Given the description of an element on the screen output the (x, y) to click on. 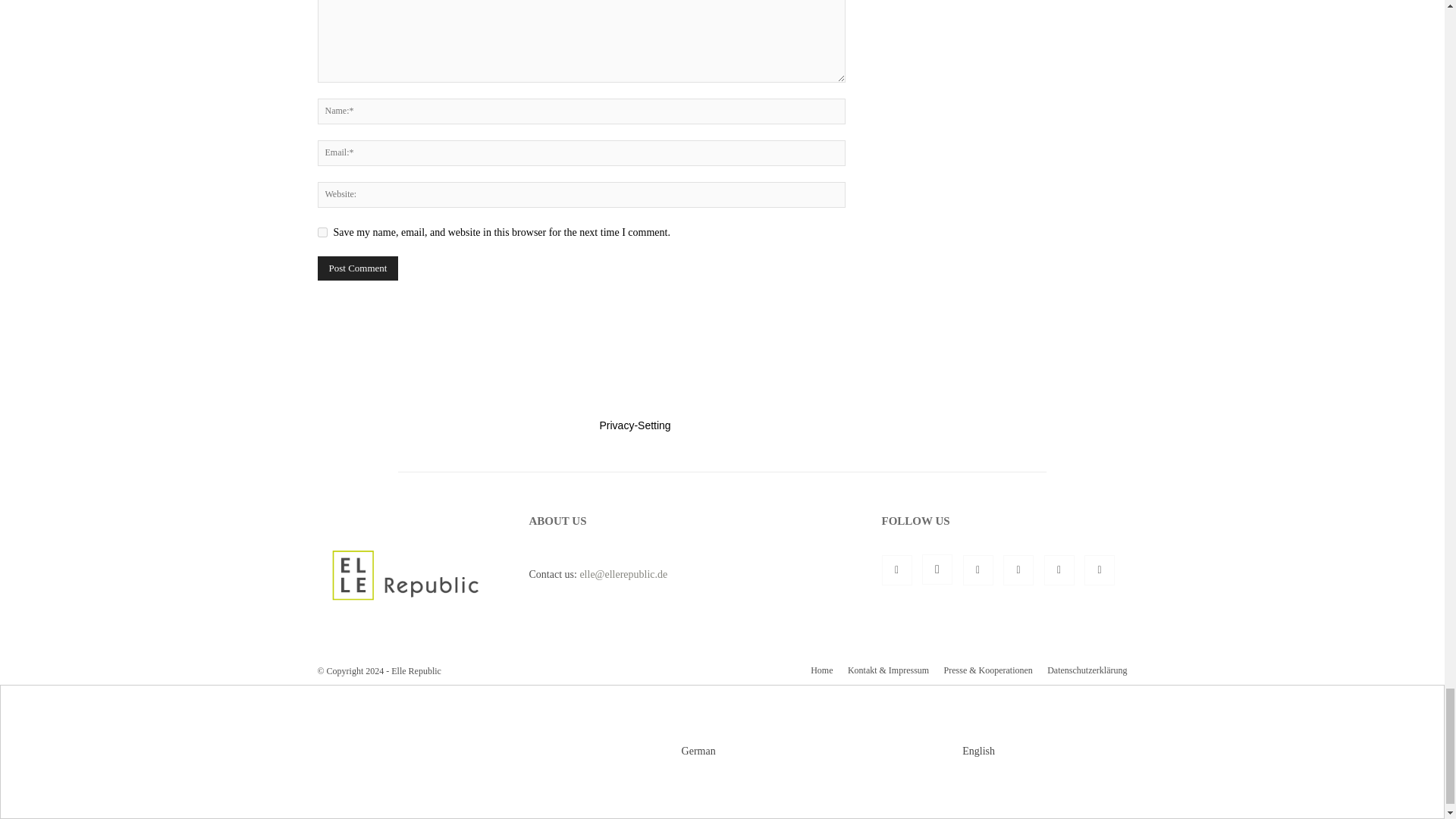
yes (321, 232)
Post Comment (357, 268)
